Given the description of an element on the screen output the (x, y) to click on. 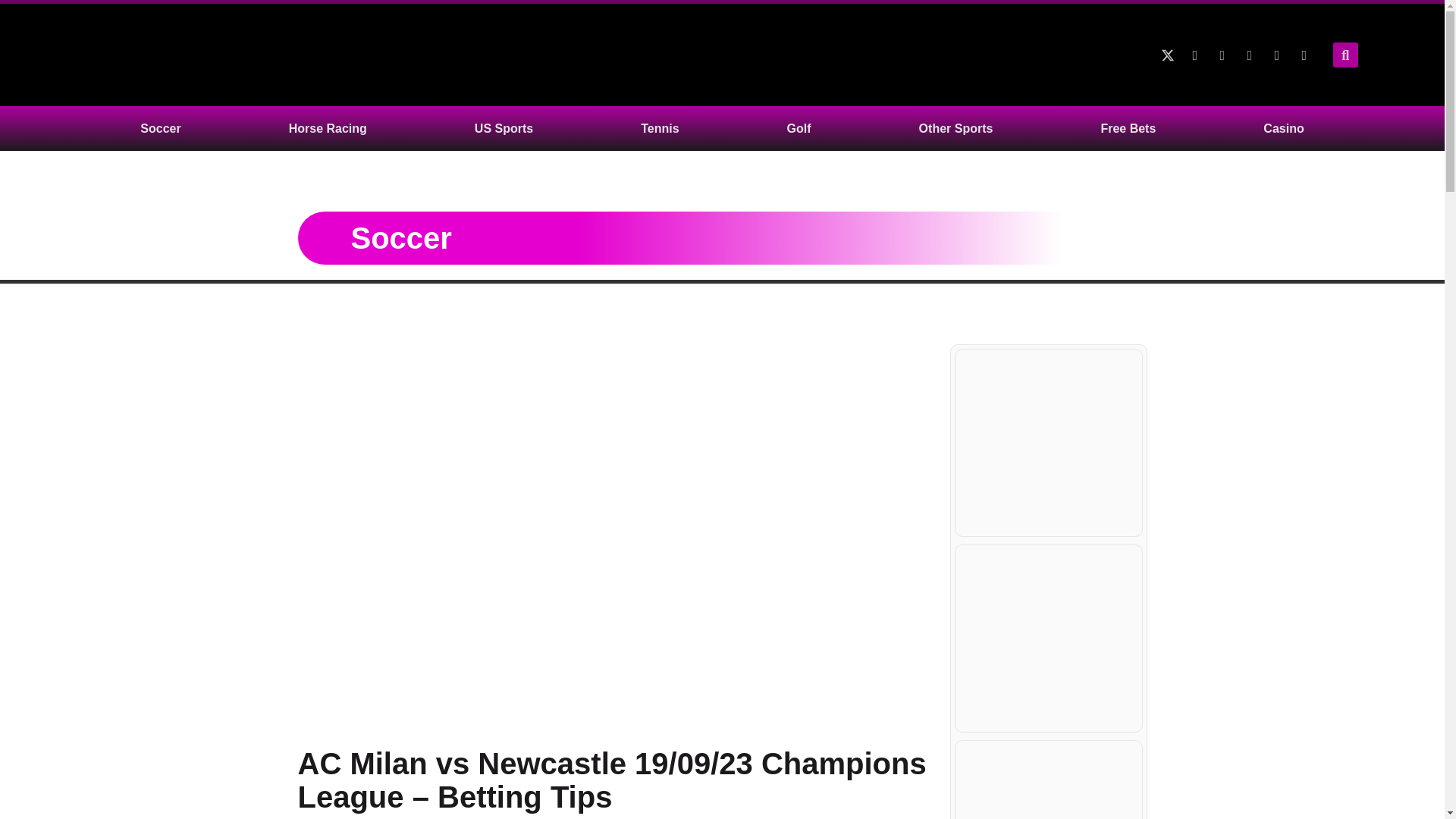
Horse Racing (327, 128)
US Sports (503, 128)
Other Sports (955, 128)
Tennis (659, 128)
Casino (1282, 128)
Soccer (159, 128)
Soccer (400, 237)
Free Bets (1127, 128)
Golf (798, 128)
